Given the description of an element on the screen output the (x, y) to click on. 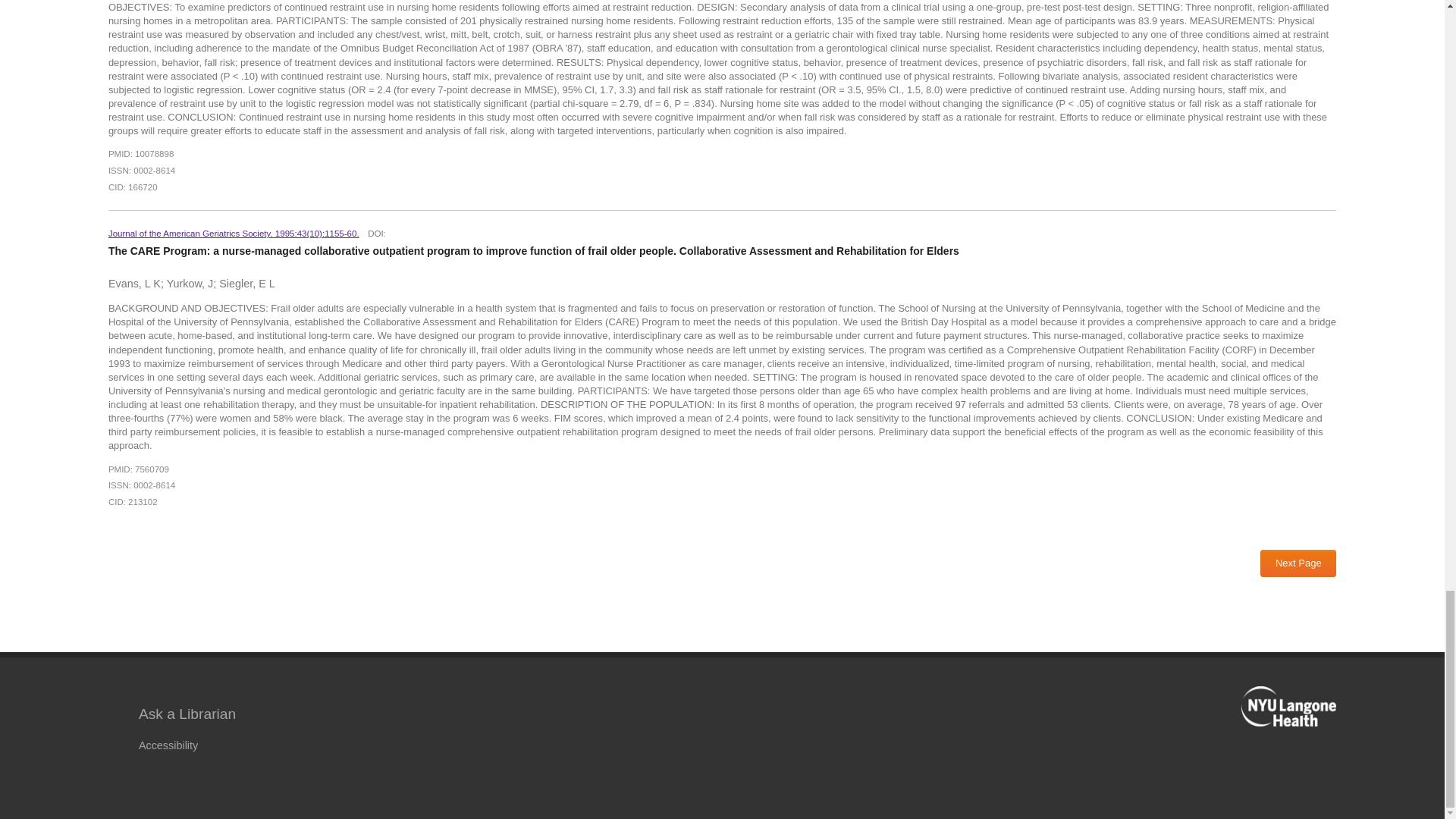
Ask a Librarian (186, 714)
Accessibility (170, 745)
Next Page (1298, 562)
